Given the description of an element on the screen output the (x, y) to click on. 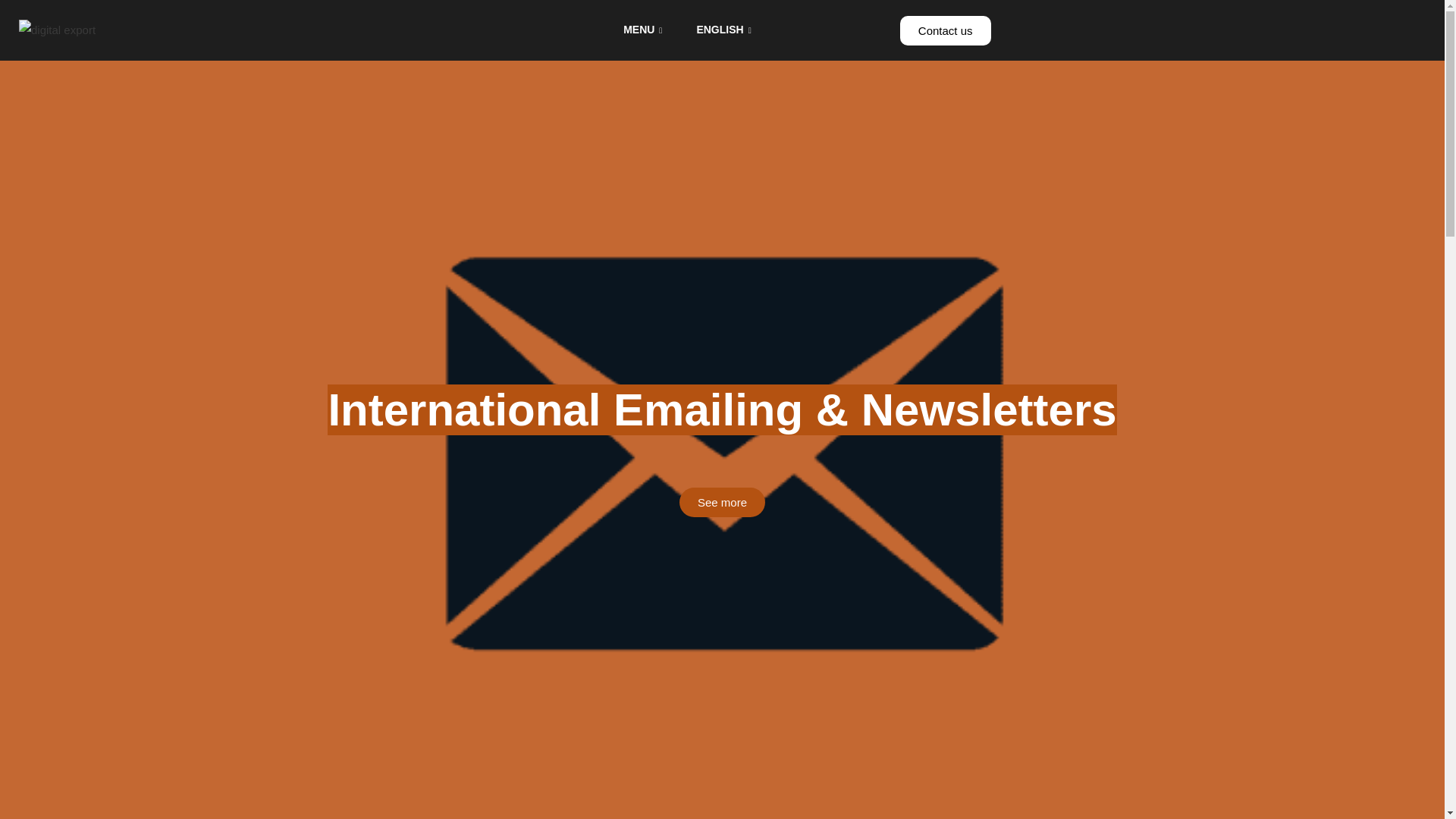
English (725, 30)
MENU (644, 30)
ENGLISH (725, 30)
See more (722, 501)
Contact us (945, 30)
